Given the description of an element on the screen output the (x, y) to click on. 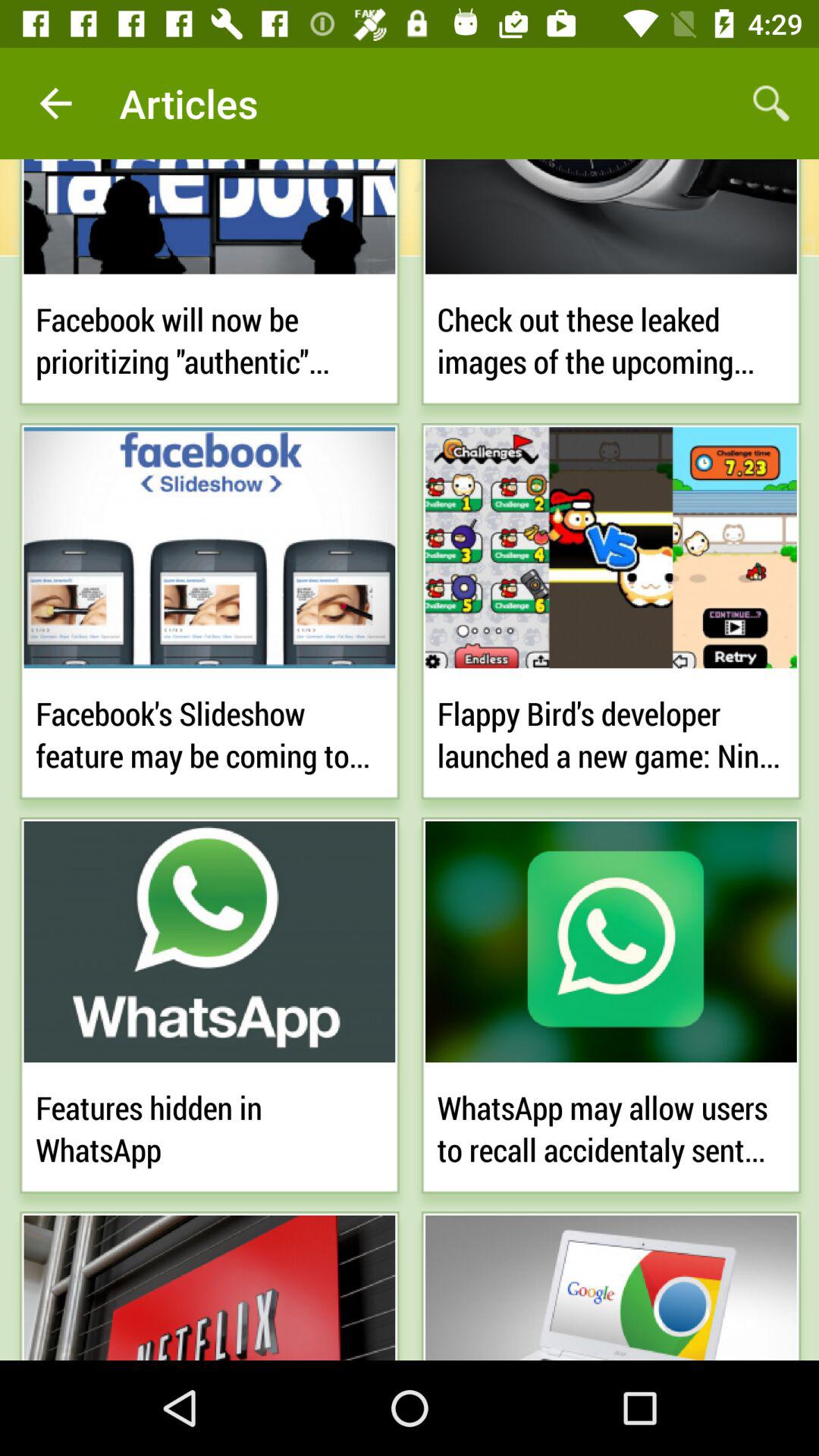
scroll until the flappy bird s icon (610, 731)
